Given the description of an element on the screen output the (x, y) to click on. 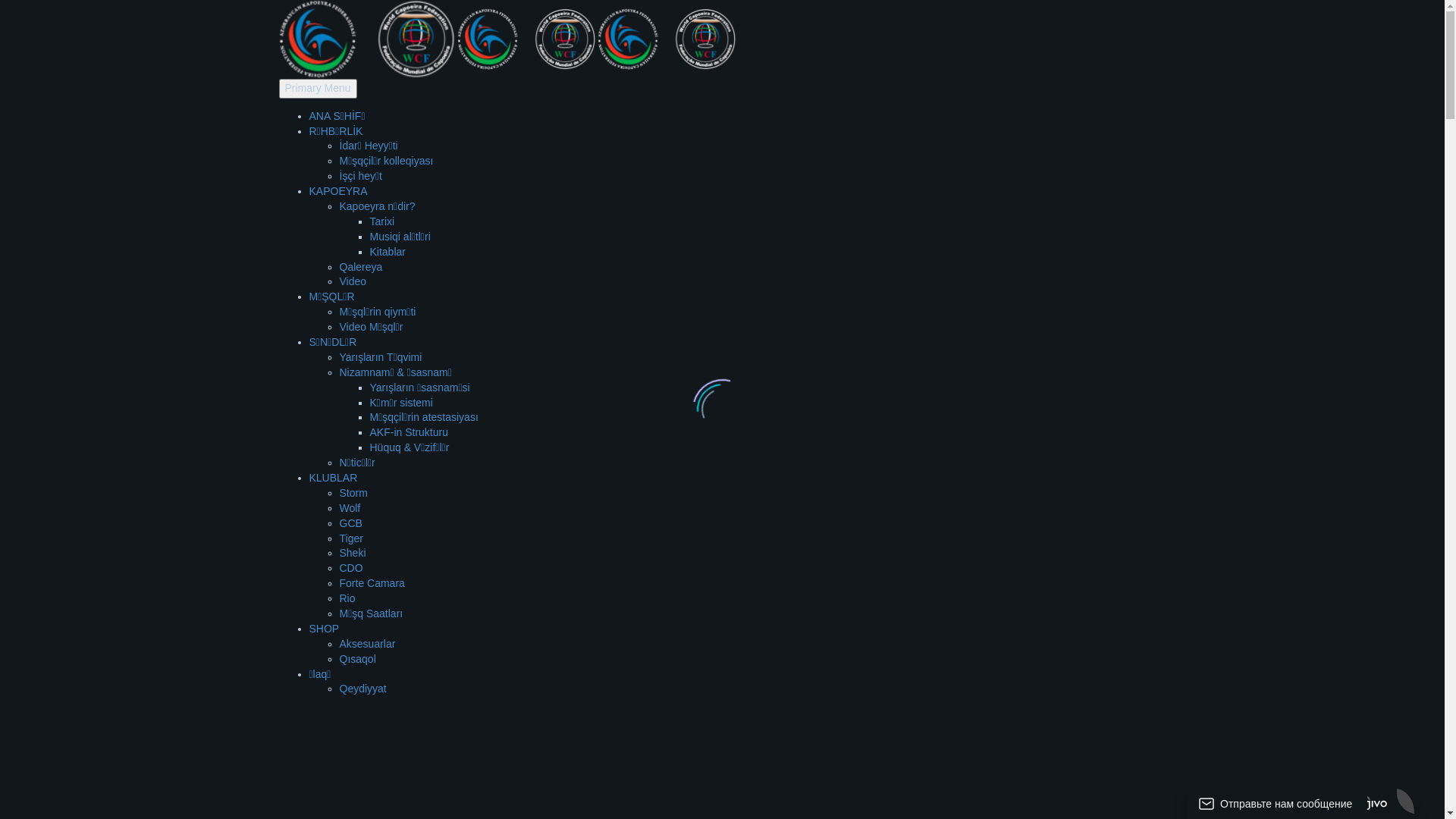
AKF-in Strukturu Element type: text (409, 432)
Sheki Element type: text (352, 552)
Qalereya Element type: text (360, 266)
Tiger Element type: text (351, 538)
KAPOEYRA Element type: text (338, 191)
Forte Camara Element type: text (371, 583)
GCB Element type: text (350, 523)
Kitablar Element type: text (387, 251)
SHOP Element type: text (324, 628)
KLUBLAR Element type: text (333, 477)
Video Element type: text (353, 281)
Storm Element type: text (353, 492)
Tarixi Element type: text (382, 221)
CDO Element type: text (351, 567)
Rio Element type: text (347, 598)
Qeydiyyat Element type: text (362, 688)
Primary Menu Element type: text (318, 88)
Wolf Element type: text (349, 508)
Aksesuarlar Element type: text (367, 643)
